Given the description of an element on the screen output the (x, y) to click on. 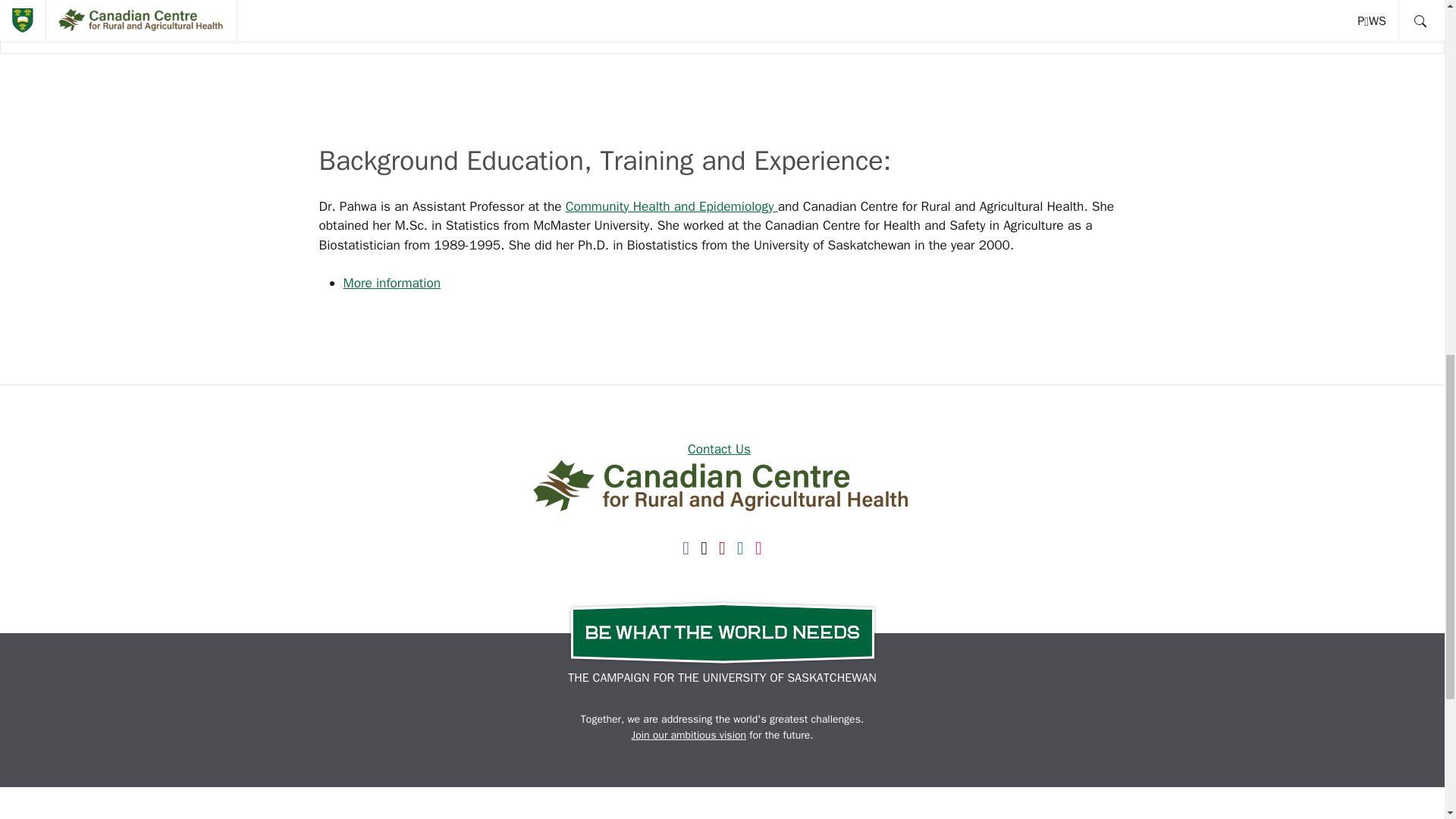
Follow on X (703, 546)
Follow on LinkedIn (740, 546)
Follow on YouTube (722, 546)
Follow on Facebook (685, 546)
Follow on Flickr (758, 546)
